Given the description of an element on the screen output the (x, y) to click on. 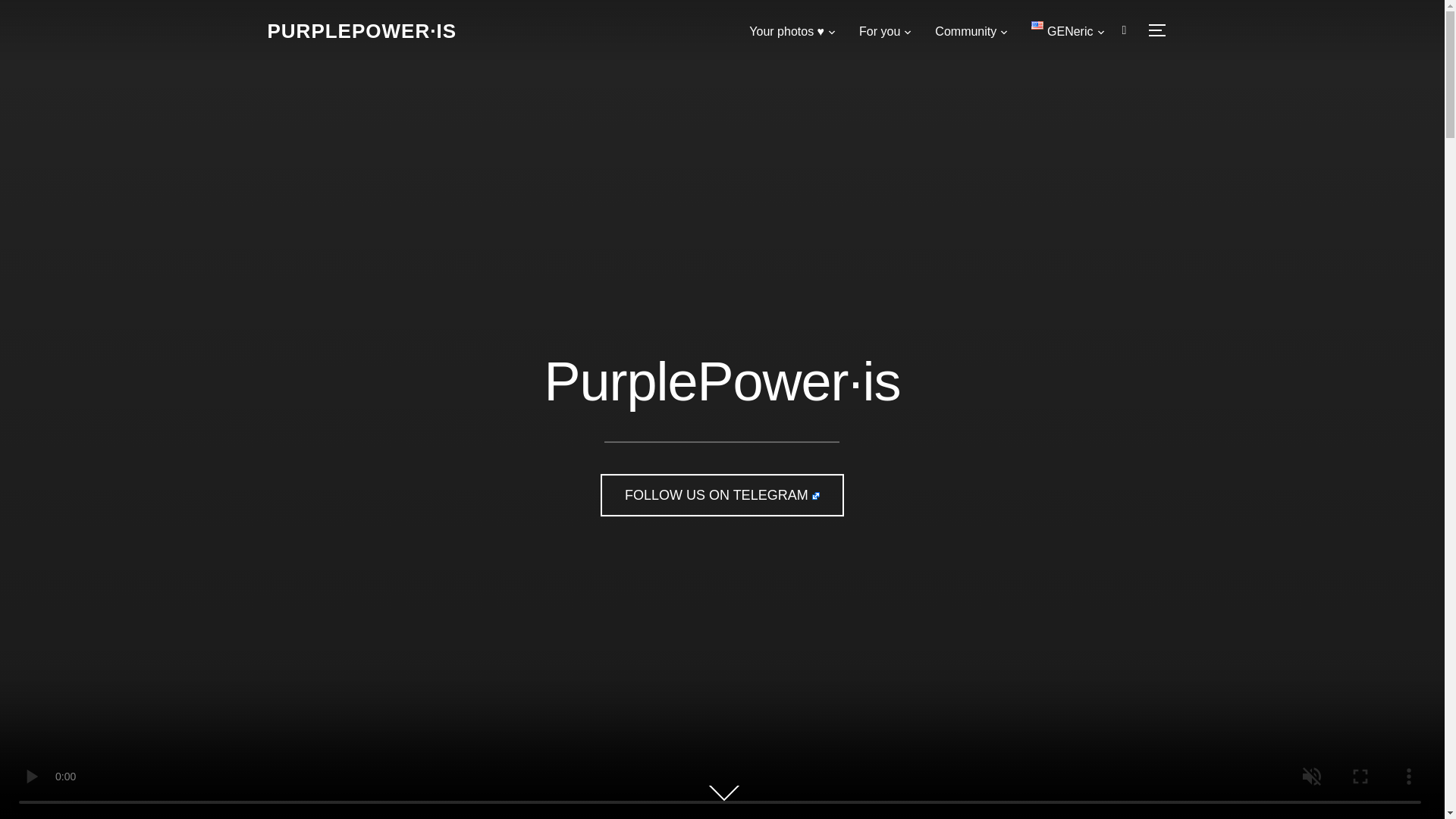
Search (15, 15)
Scroll to Content (727, 794)
For you (885, 31)
